Given the description of an element on the screen output the (x, y) to click on. 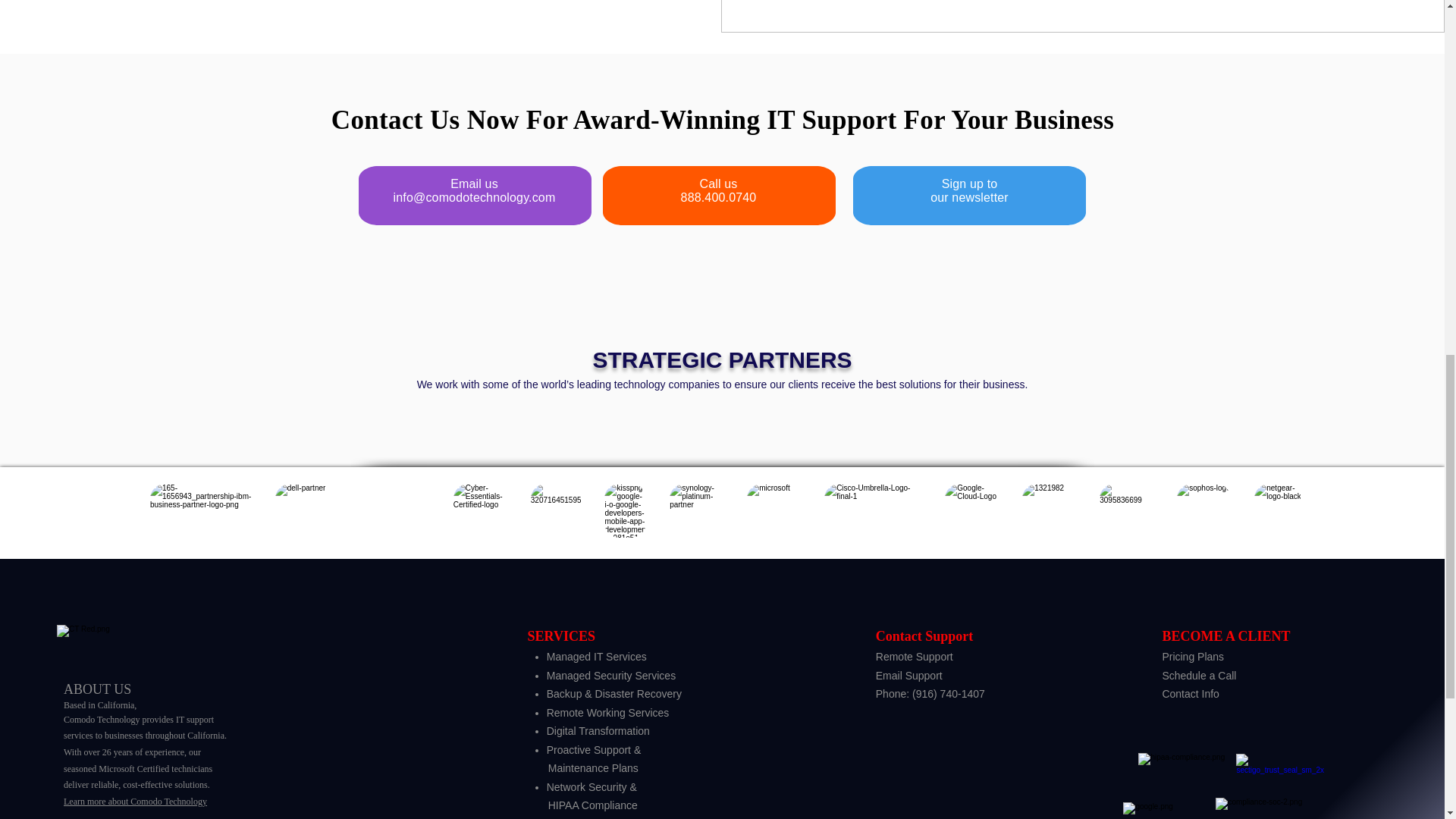
Learn more about Comodo Technology (135, 801)
Contact Info (1190, 693)
Remote Support (914, 656)
Schedule a Call (969, 190)
Email Support (1198, 675)
